Given the description of an element on the screen output the (x, y) to click on. 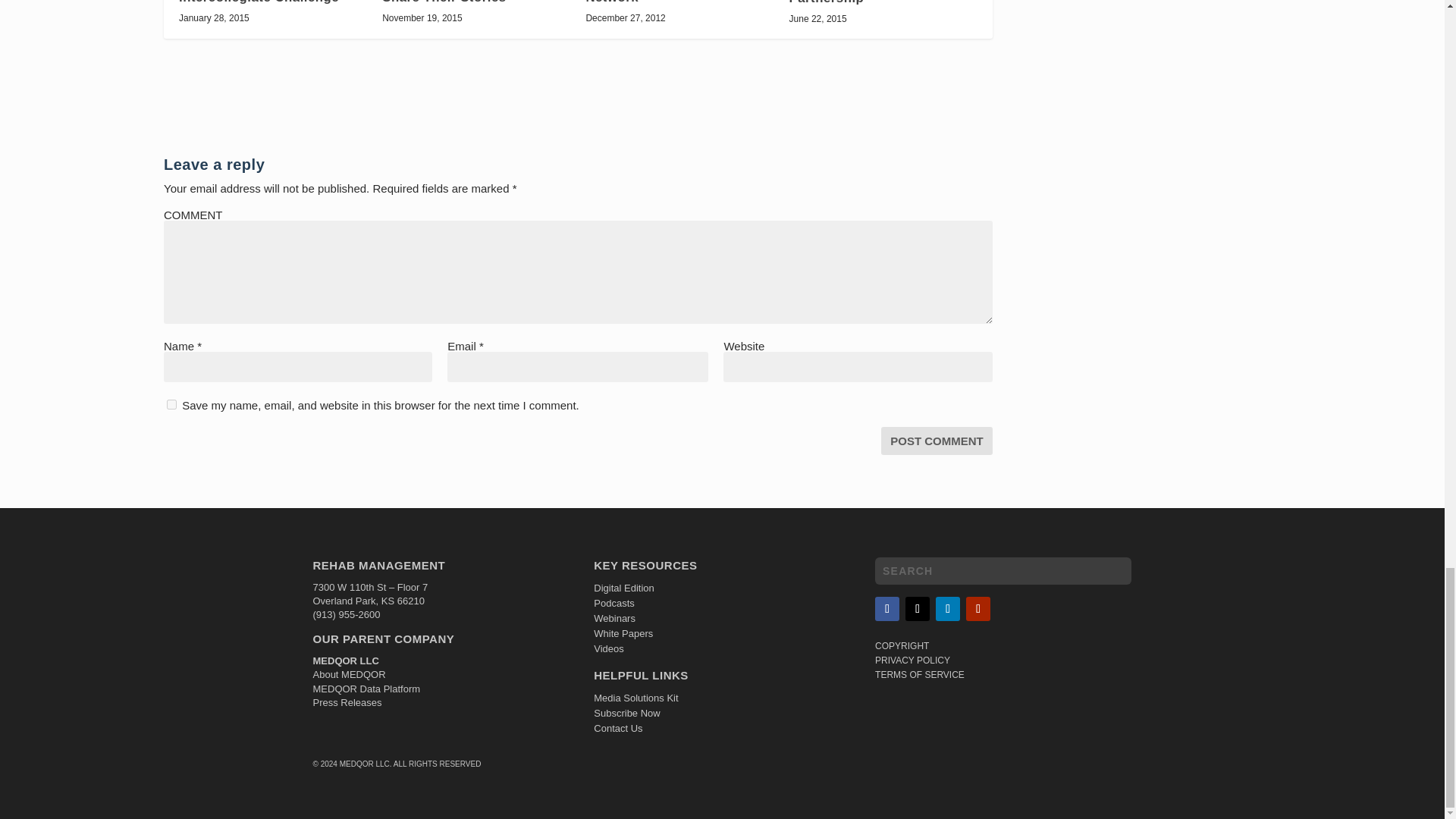
Post Comment (936, 440)
Follow on X (917, 608)
Follow on LinkedIn (947, 608)
yes (171, 404)
Follow on Facebook (887, 608)
